Given the description of an element on the screen output the (x, y) to click on. 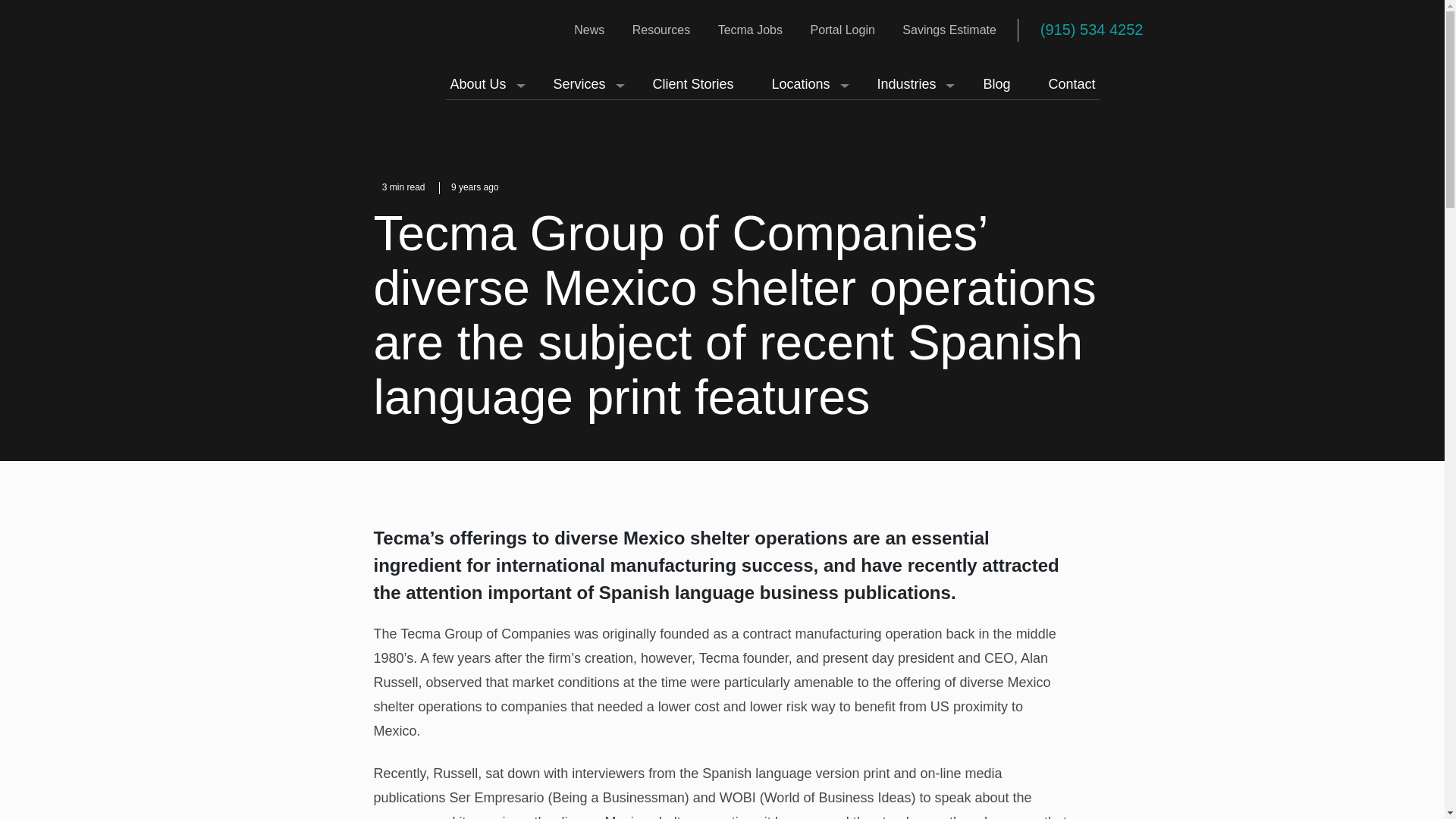
Portal Login (842, 29)
About Us (482, 84)
News (588, 29)
Savings Estimate (948, 29)
Resources (660, 29)
Tecma Jobs (750, 29)
Services (583, 84)
